Given the description of an element on the screen output the (x, y) to click on. 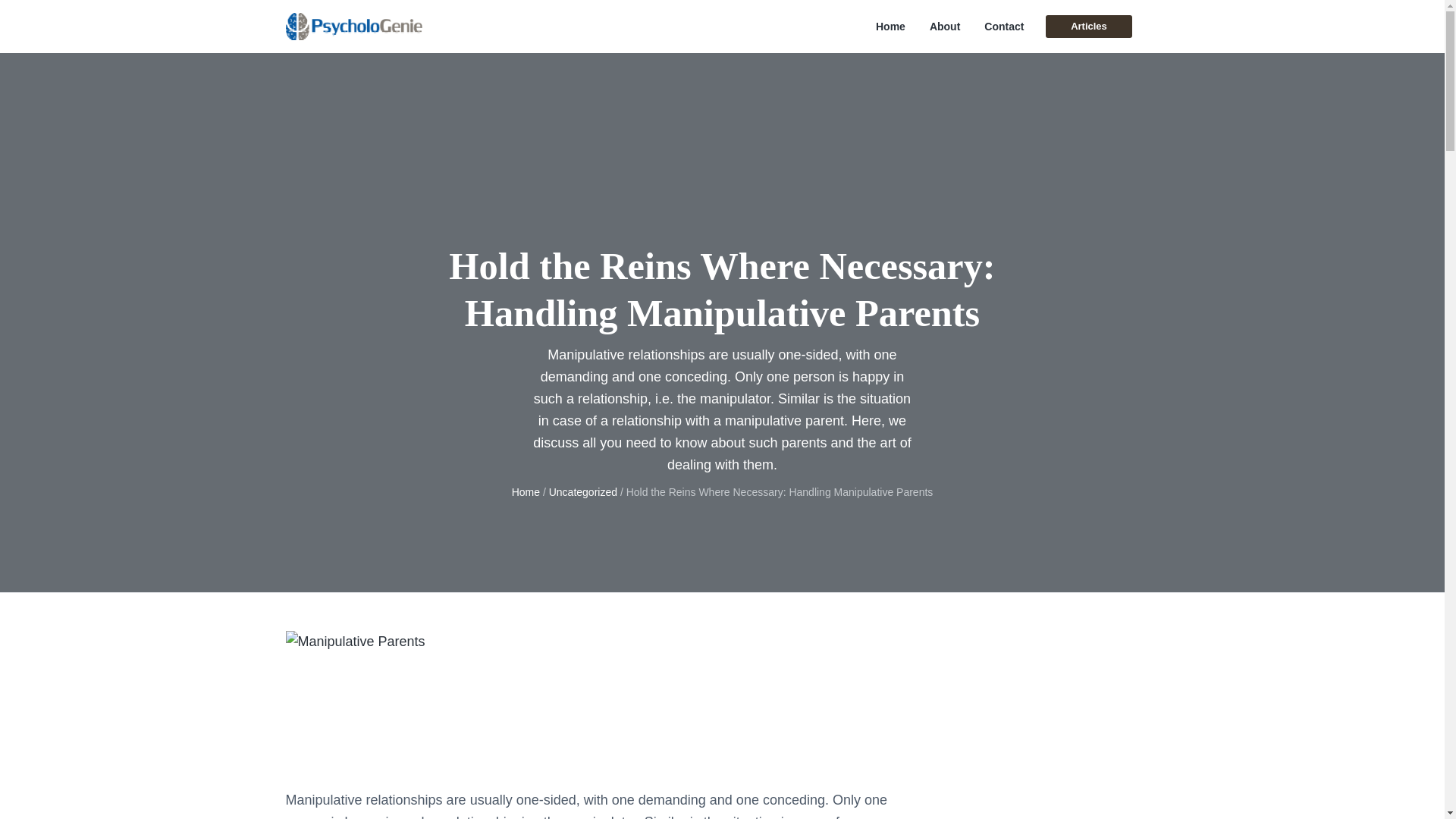
About (944, 27)
Contact (1003, 27)
Articles (1087, 25)
Home (526, 491)
Uncategorized (582, 491)
Home (890, 27)
Search (60, 18)
